Given the description of an element on the screen output the (x, y) to click on. 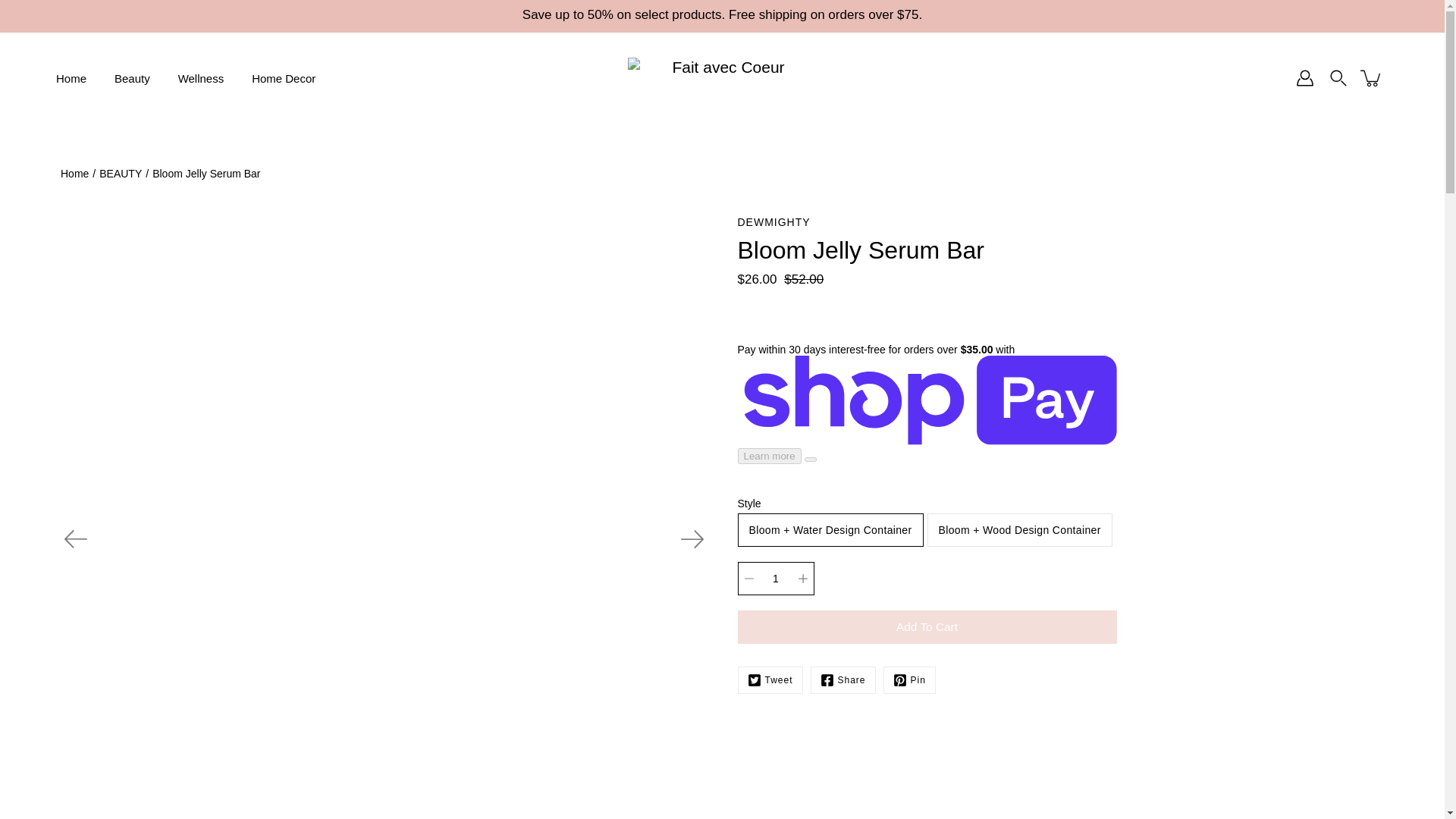
Wellness (200, 76)
Back to the Homepage (74, 173)
Home (74, 173)
Beauty (132, 76)
Pinterest (909, 679)
Home (70, 76)
Facebook (843, 679)
Twitter (769, 679)
Home Decor (283, 76)
BEAUTY (120, 173)
